Given the description of an element on the screen output the (x, y) to click on. 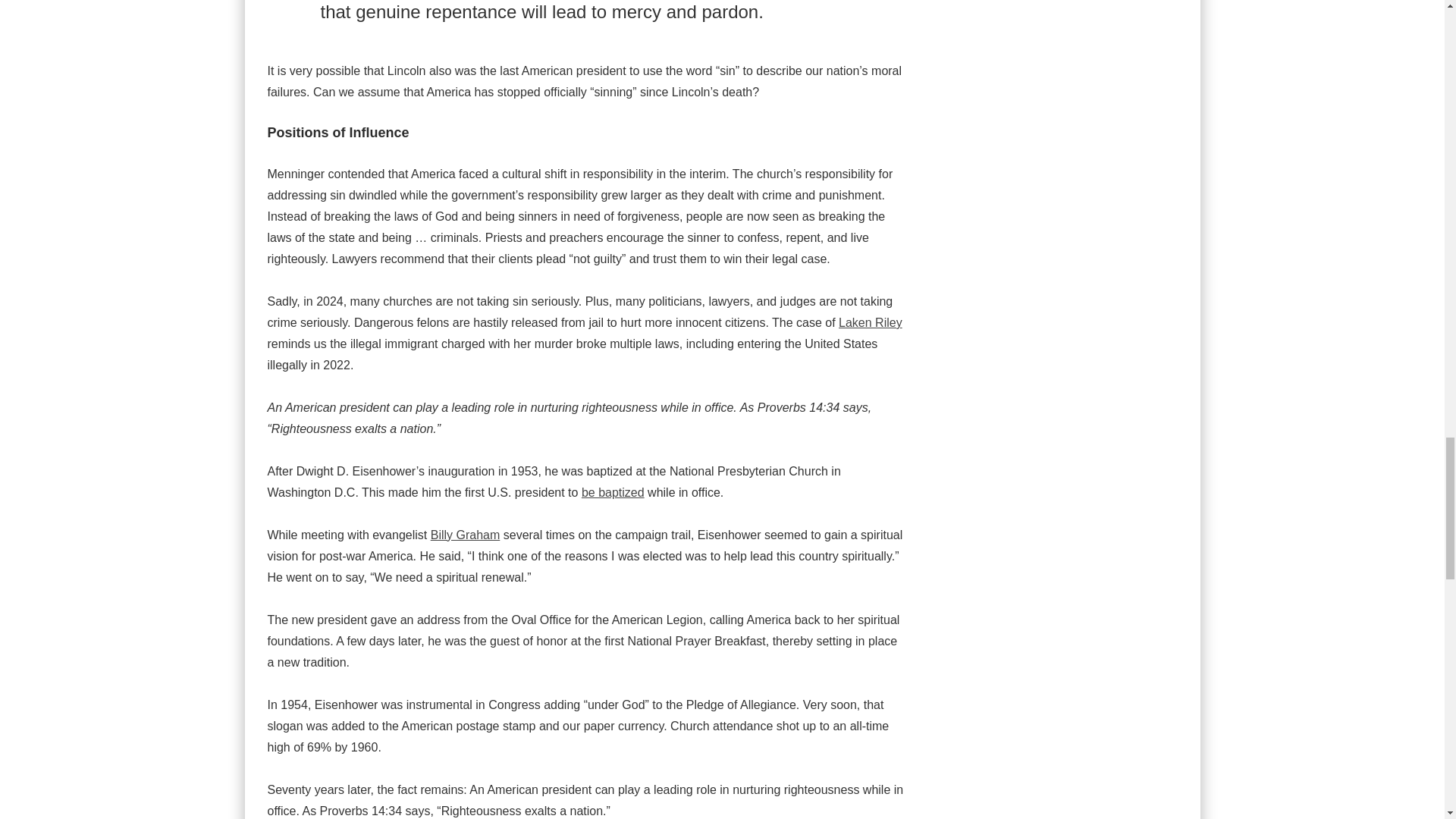
be baptized (612, 492)
Laken Riley (870, 322)
Billy Graham (465, 534)
